Given the description of an element on the screen output the (x, y) to click on. 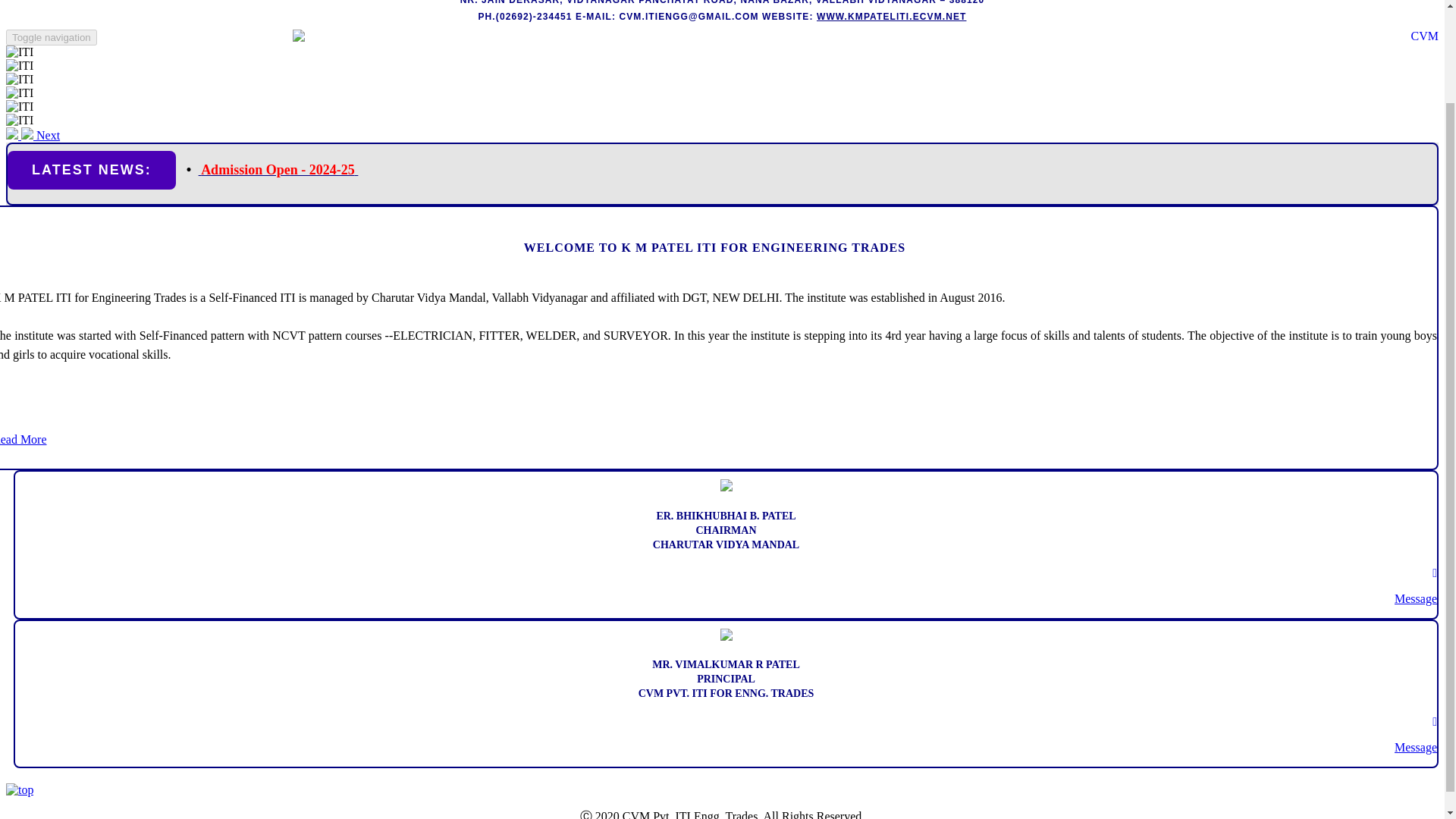
Next (40, 134)
LATEST NEWS: (91, 169)
WWW.KMPATELITI.ECVM.NET (891, 16)
Toggle navigation (51, 37)
Admission Open - 2024-25 (278, 169)
